Given the description of an element on the screen output the (x, y) to click on. 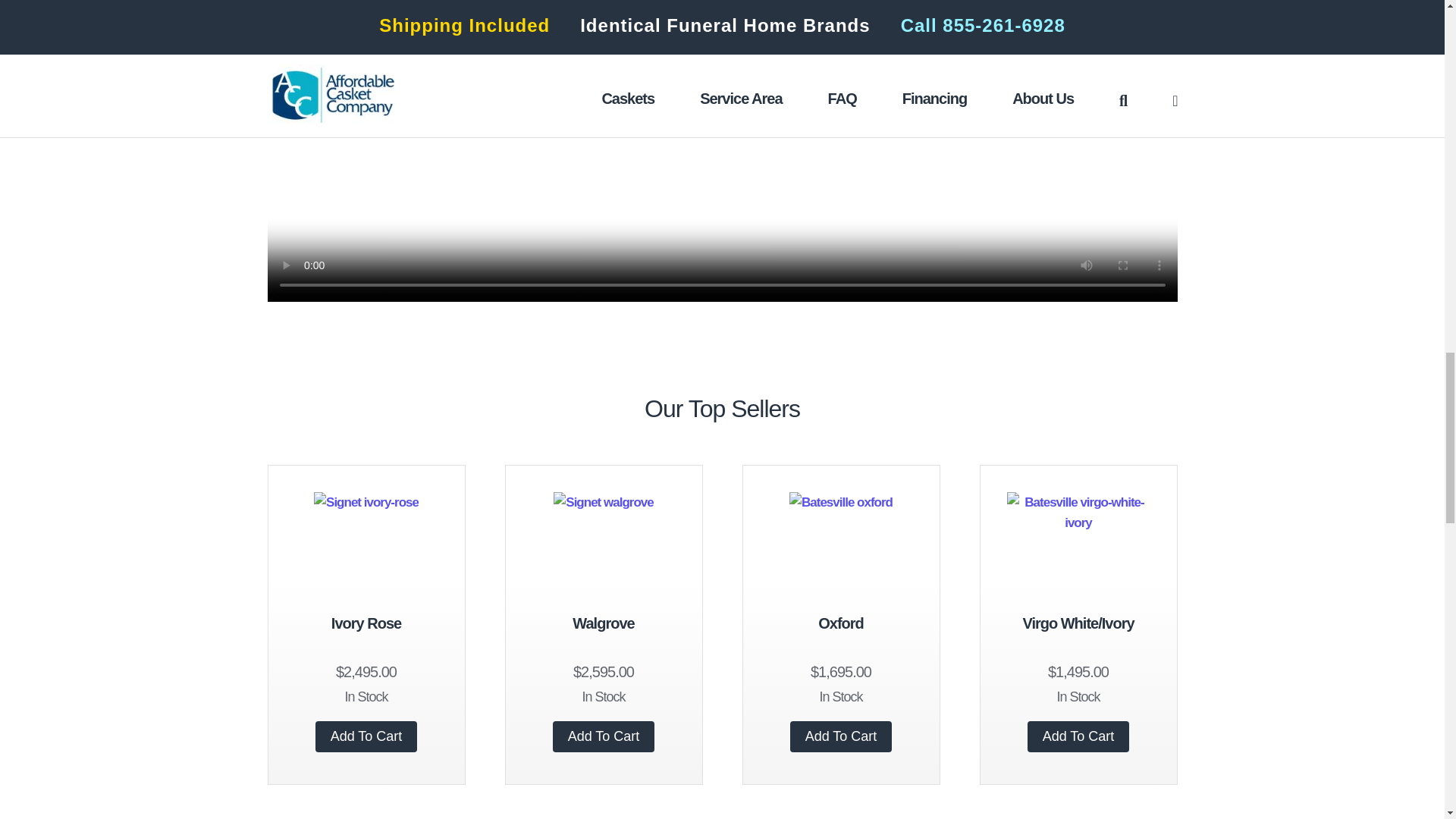
Ivory Rose (366, 623)
